Given the description of an element on the screen output the (x, y) to click on. 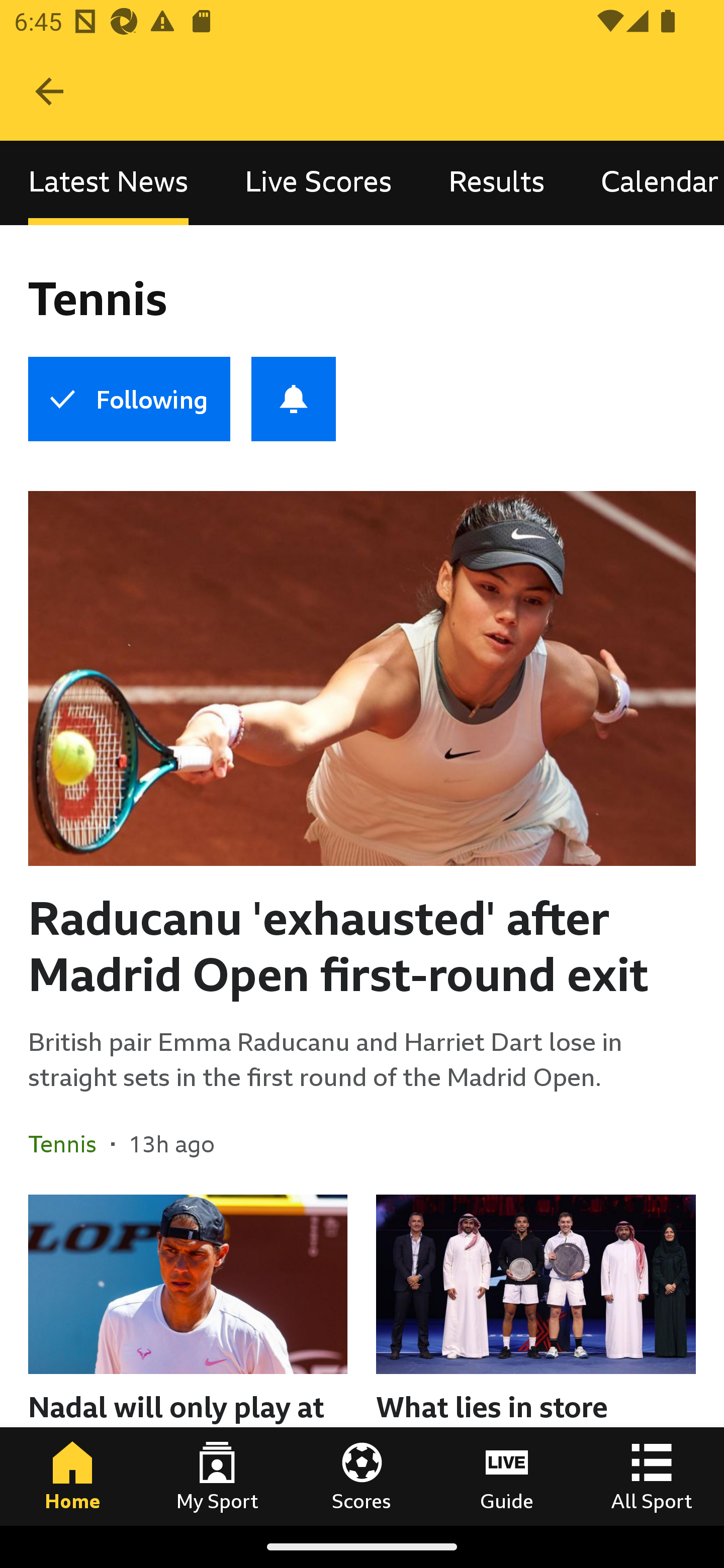
Navigate up (49, 91)
Latest News, selected Latest News (108, 183)
Live Scores (318, 183)
Results (496, 183)
Calendar (648, 183)
Following Tennis Following (129, 398)
Push notifications for Tennis (293, 398)
My Sport (216, 1475)
Scores (361, 1475)
Guide (506, 1475)
All Sport (651, 1475)
